Given the description of an element on the screen output the (x, y) to click on. 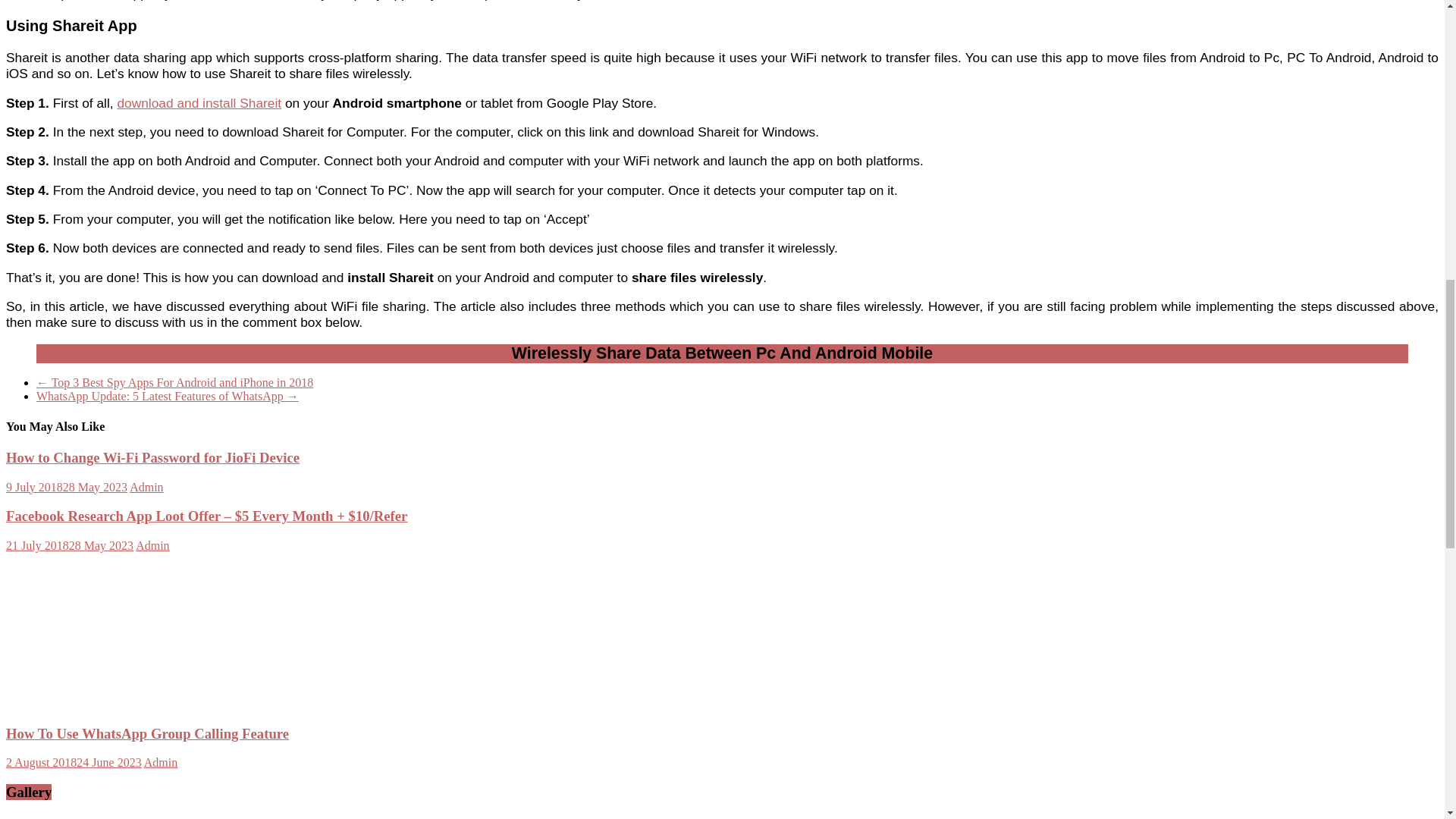
How to Change Wi-Fi Password for JioFi Device (152, 457)
12:54 PM (69, 545)
How to Change Wi-Fi Password for JioFi Device (152, 457)
Admin (146, 486)
11:22 PM (66, 486)
download and install Shareit (198, 102)
